Given the description of an element on the screen output the (x, y) to click on. 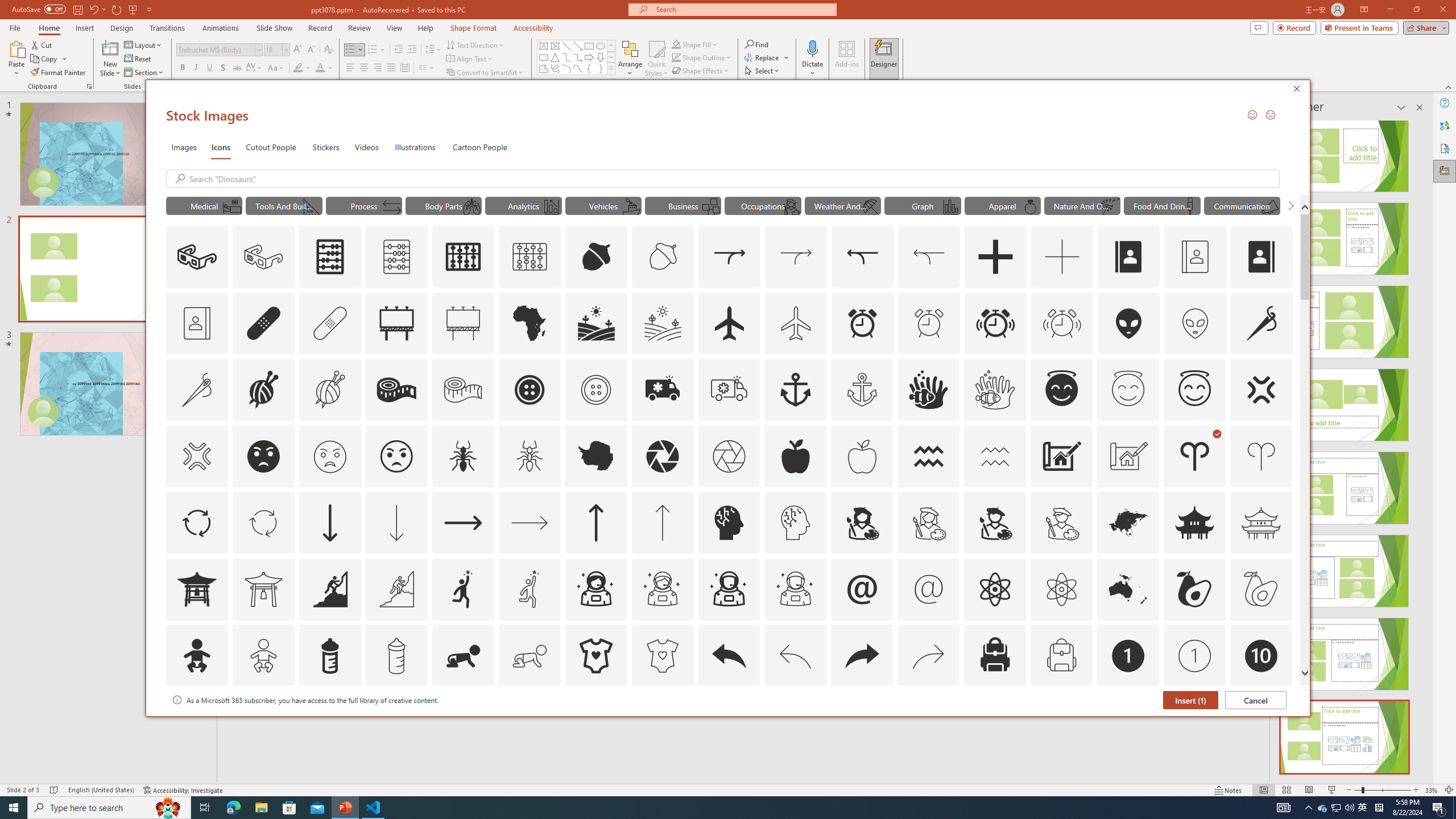
AutomationID: Icons_BabyBottle (329, 655)
AutomationID: Icons_Aspiration (329, 588)
AutomationID: Icons_Agriculture (596, 323)
AutomationID: Icons_Back_RTL_M (928, 655)
AutomationID: Icons_BarGraphUpwardTrend_RTL_M (551, 206)
Send a Smile (1251, 114)
